Given the description of an element on the screen output the (x, y) to click on. 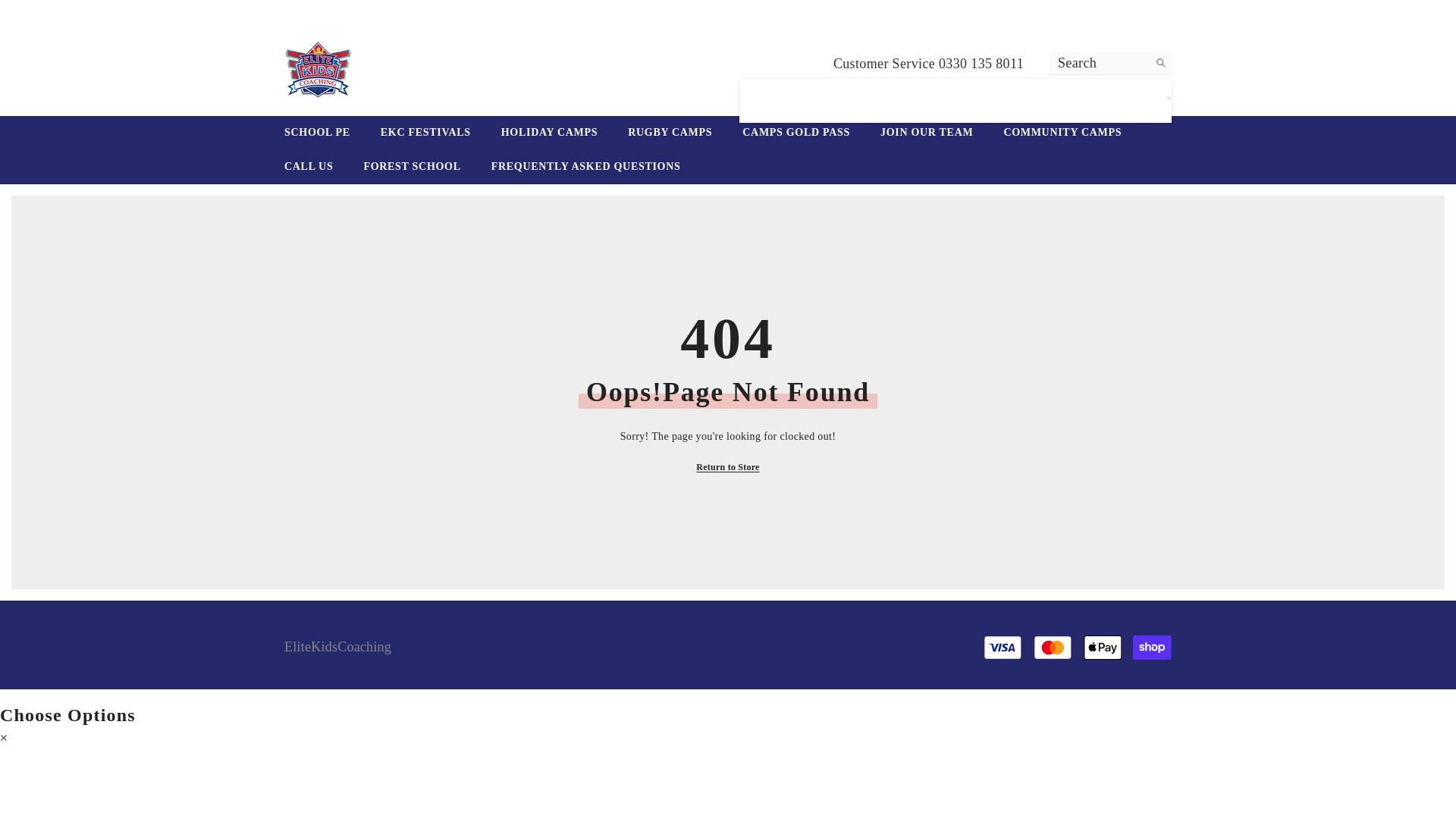
Shop Pay (1152, 647)
HOLIDAY CAMPS (549, 132)
Visa (1003, 647)
COMMUNITY CAMPS (1062, 132)
Return to Store (726, 466)
Apple Pay (1102, 647)
FREQUENTLY ASKED QUESTIONS (585, 166)
FOREST SCHOOL (411, 166)
Mastercard (1052, 647)
CAMPS GOLD PASS (795, 132)
